Given the description of an element on the screen output the (x, y) to click on. 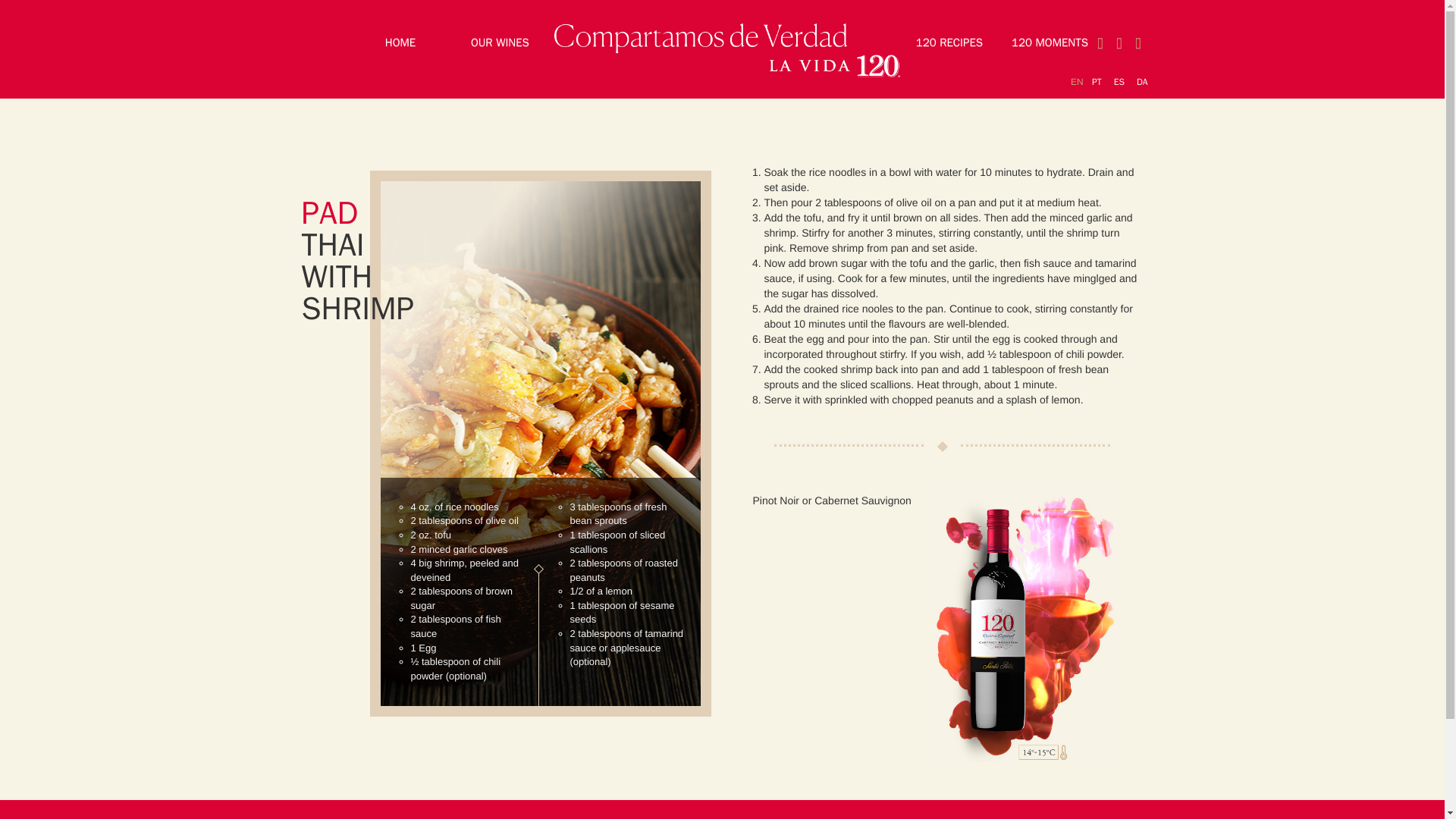
DA (1142, 82)
Our Wines (499, 43)
OUR WINES (499, 43)
120 recipes (948, 43)
HOME (400, 43)
Home (400, 43)
120 RECIPES (948, 43)
Facebook (1138, 43)
Youtube (1100, 43)
Instagram (1119, 43)
120 moments (1049, 43)
FACEBOOK (1138, 43)
INSTAGRAM (1119, 43)
120 MOMENTS (1049, 43)
ES (1119, 82)
